Given the description of an element on the screen output the (x, y) to click on. 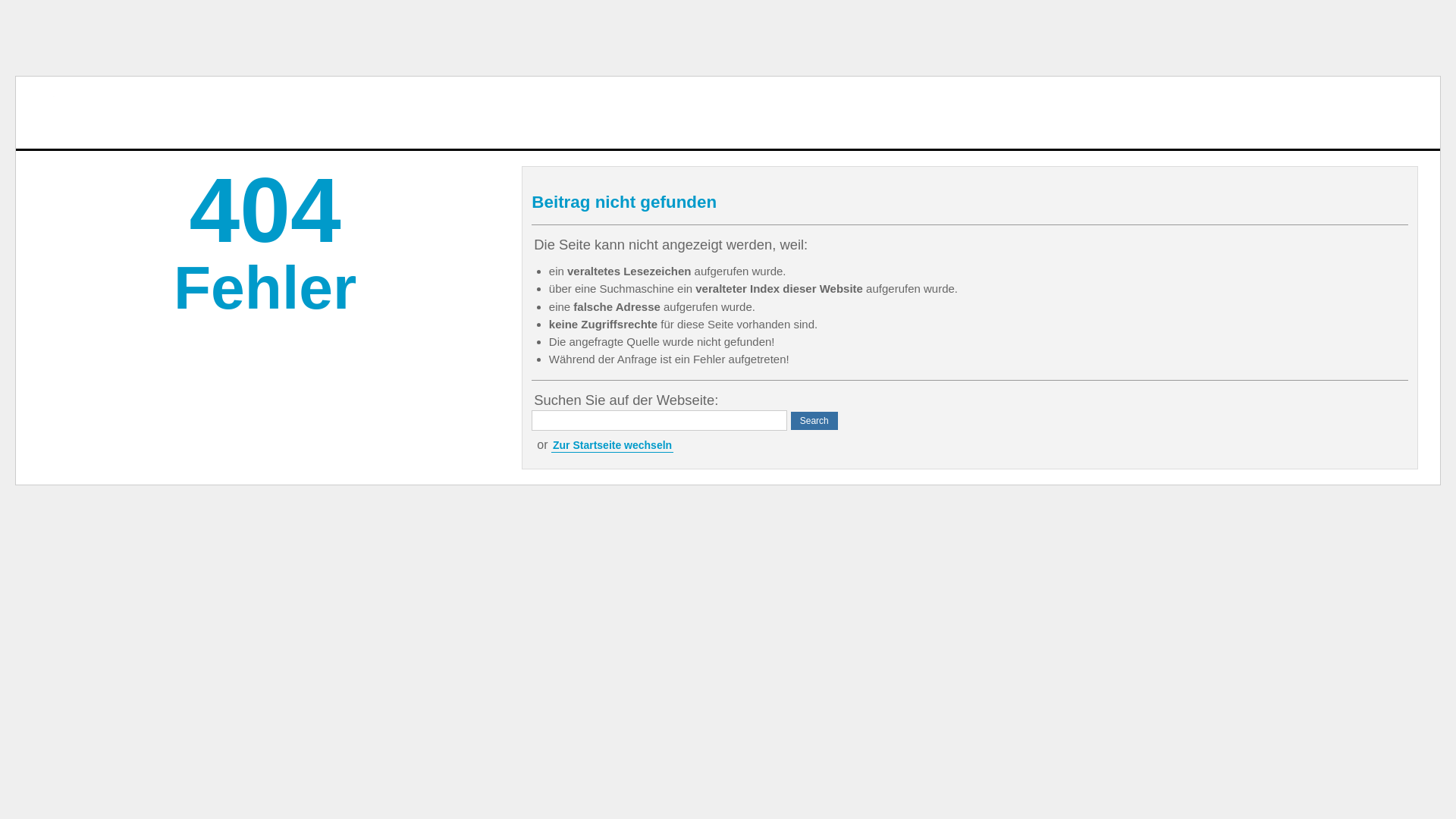
Search Element type: text (813, 420)
Zur Startseite wechseln Element type: text (612, 445)
